Given the description of an element on the screen output the (x, y) to click on. 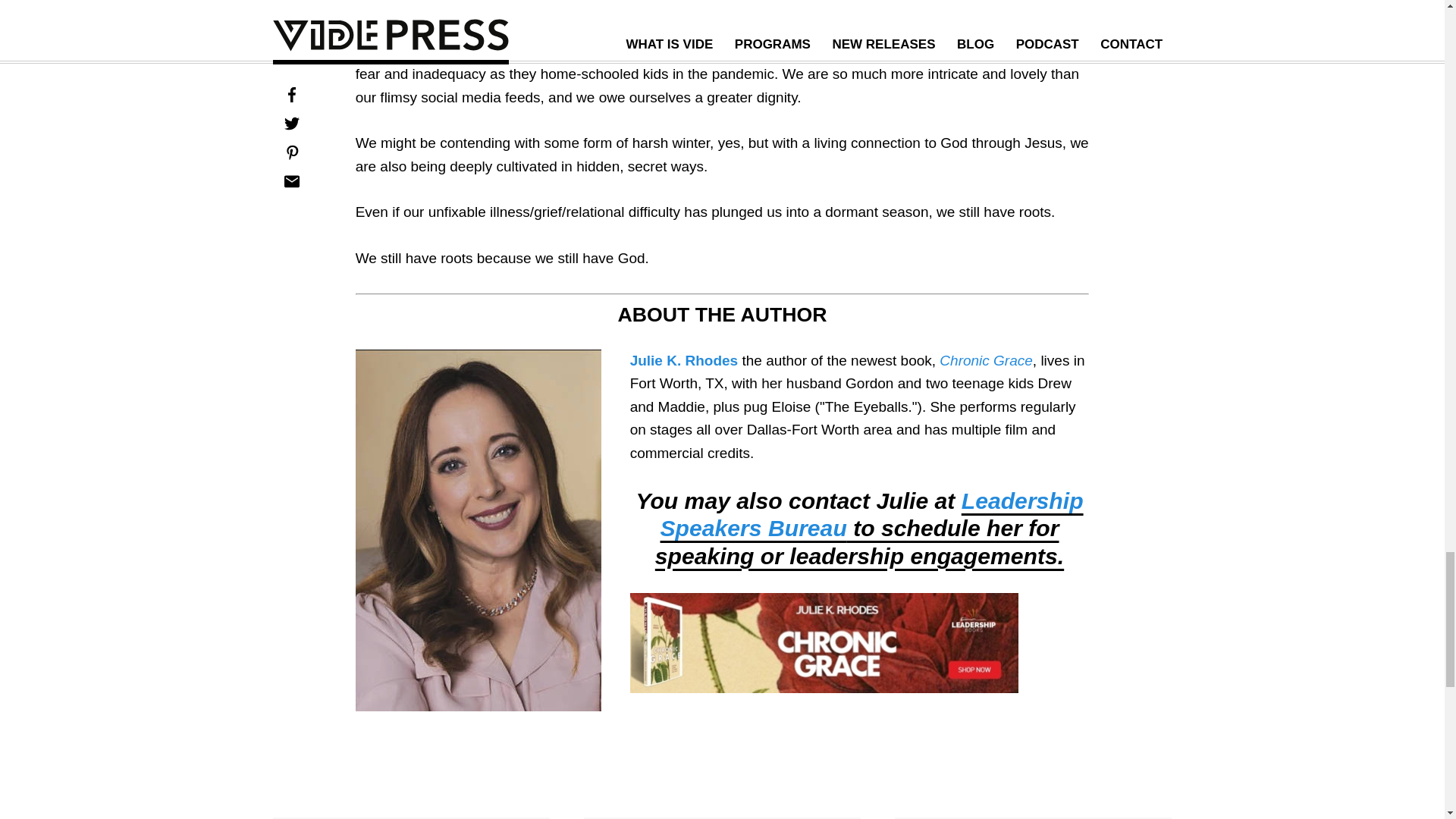
Julie K. Rhodes (684, 360)
Julie Rhodes (684, 360)
Book Julie to Speak! (872, 514)
Chronic Grace (985, 360)
Chronic Grace (985, 360)
Leadership Speakers Bureau (872, 514)
